Given the description of an element on the screen output the (x, y) to click on. 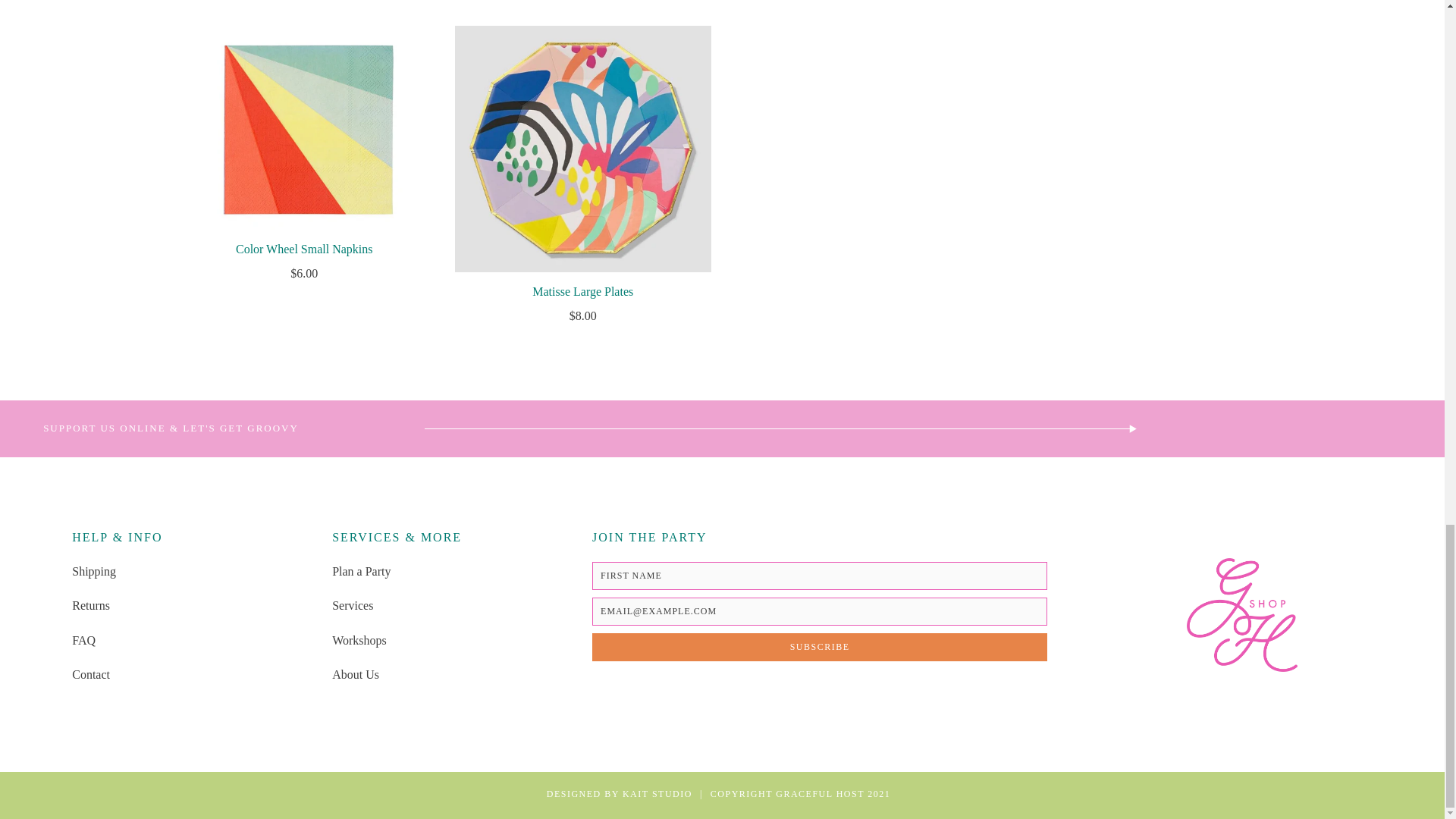
Subscribe (819, 646)
